Given the description of an element on the screen output the (x, y) to click on. 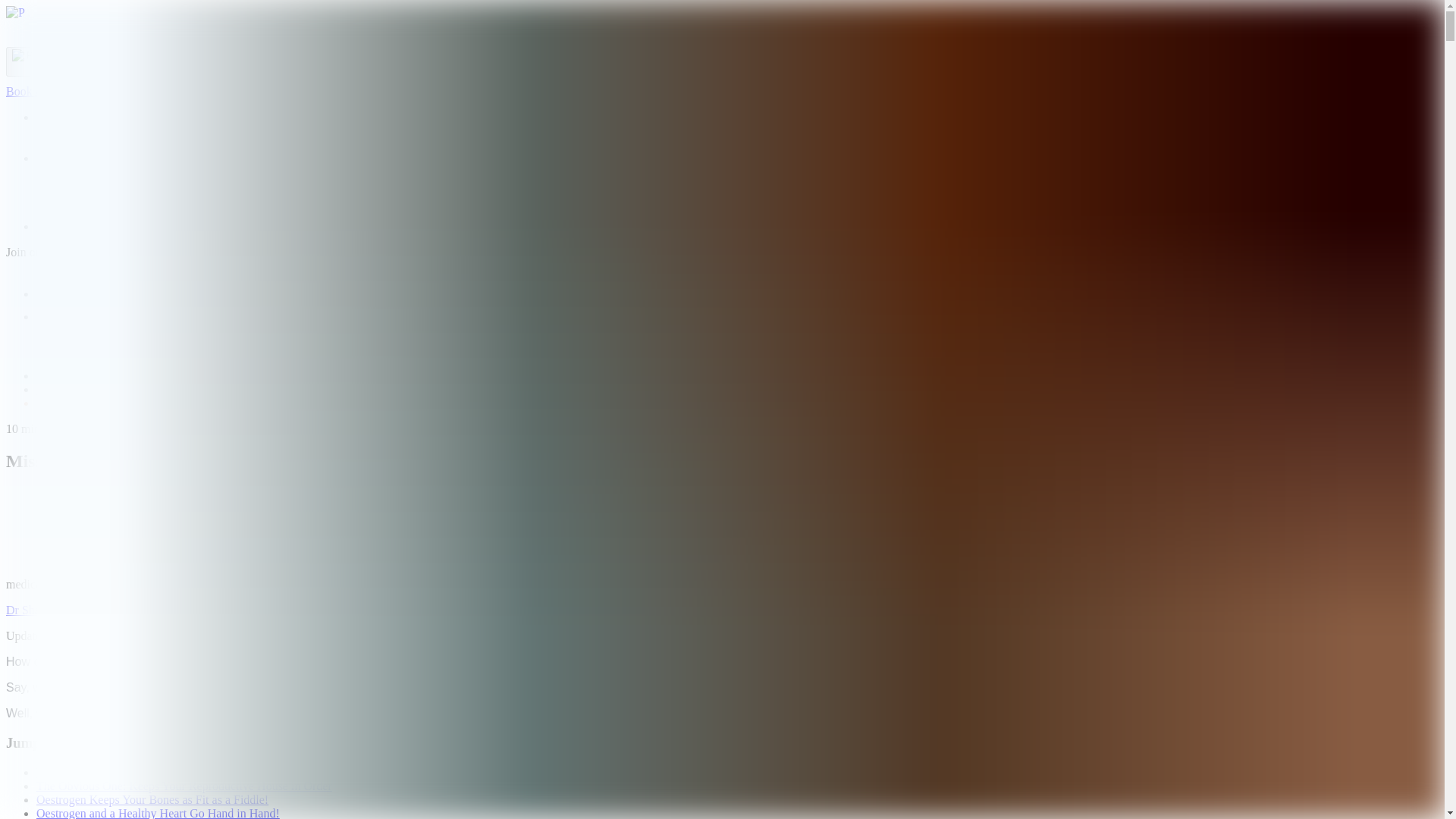
Blogs (50, 226)
Oestrogen and a Healthy Heart Go Hand in Hand! (157, 812)
Homepage (62, 375)
Online Yoga classes (114, 171)
What is the Role of Oestrogen in Your Body? (146, 771)
The Obvious One: Keeps Your Reproductive House in Order (183, 785)
Oestrogen Keeps Your Bones as Fit as a Fiddle! (151, 799)
Exclusive Bootcamps (90, 116)
21 days bootcamp (110, 130)
Menopause 21 days bootcamp (140, 144)
